Given the description of an element on the screen output the (x, y) to click on. 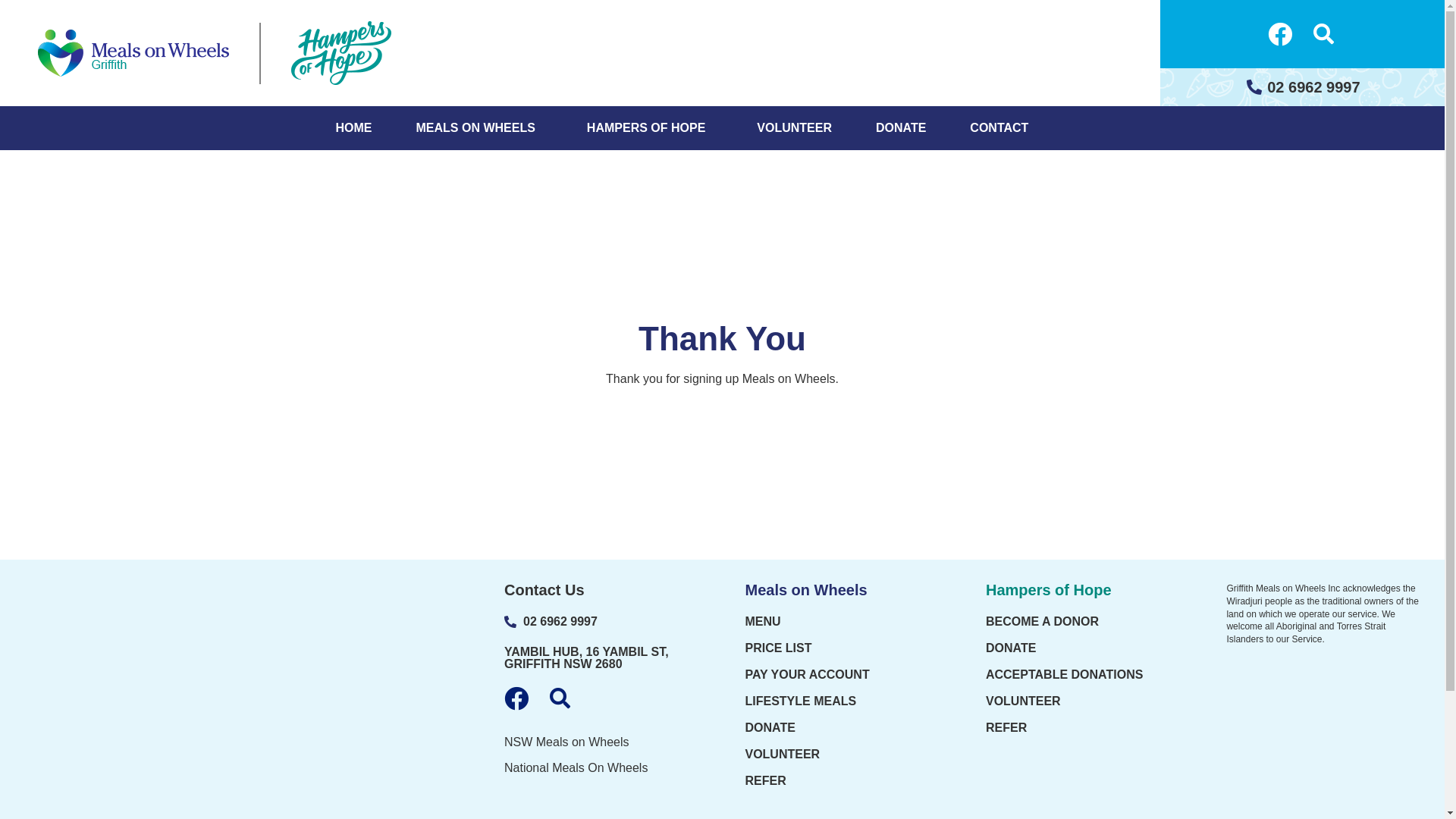
NSW Meals on Wheels Element type: text (601, 742)
YAMBIL HUB, 16 YAMBIL ST,
GRIFFITH NSW 2680 Element type: text (586, 657)
HAMPERS OF HOPE Element type: text (649, 128)
MEALS ON WHEELS Element type: text (478, 128)
PAY YOUR ACCOUNT Element type: text (841, 674)
VOLUNTEER Element type: text (841, 754)
MENU Element type: text (841, 621)
REFER Element type: text (1082, 727)
VOLUNTEER Element type: text (1082, 701)
National Meals On Wheels Element type: text (601, 768)
VOLUNTEER Element type: text (794, 128)
ACCEPTABLE DONATIONS Element type: text (1082, 674)
HOME Element type: text (353, 128)
REFER Element type: text (841, 780)
02 6962 9997 Element type: text (1302, 87)
02 6962 9997 Element type: text (601, 621)
DONATE Element type: text (1082, 648)
DONATE Element type: text (900, 128)
Meals on Wheels Element type: text (805, 589)
Hampers of Hope Element type: text (1048, 589)
PRICE LIST Element type: text (841, 648)
DONATE Element type: text (841, 727)
BECOME A DONOR Element type: text (1082, 621)
LIFESTYLE MEALS Element type: text (841, 701)
CONTACT Element type: text (998, 128)
